Given the description of an element on the screen output the (x, y) to click on. 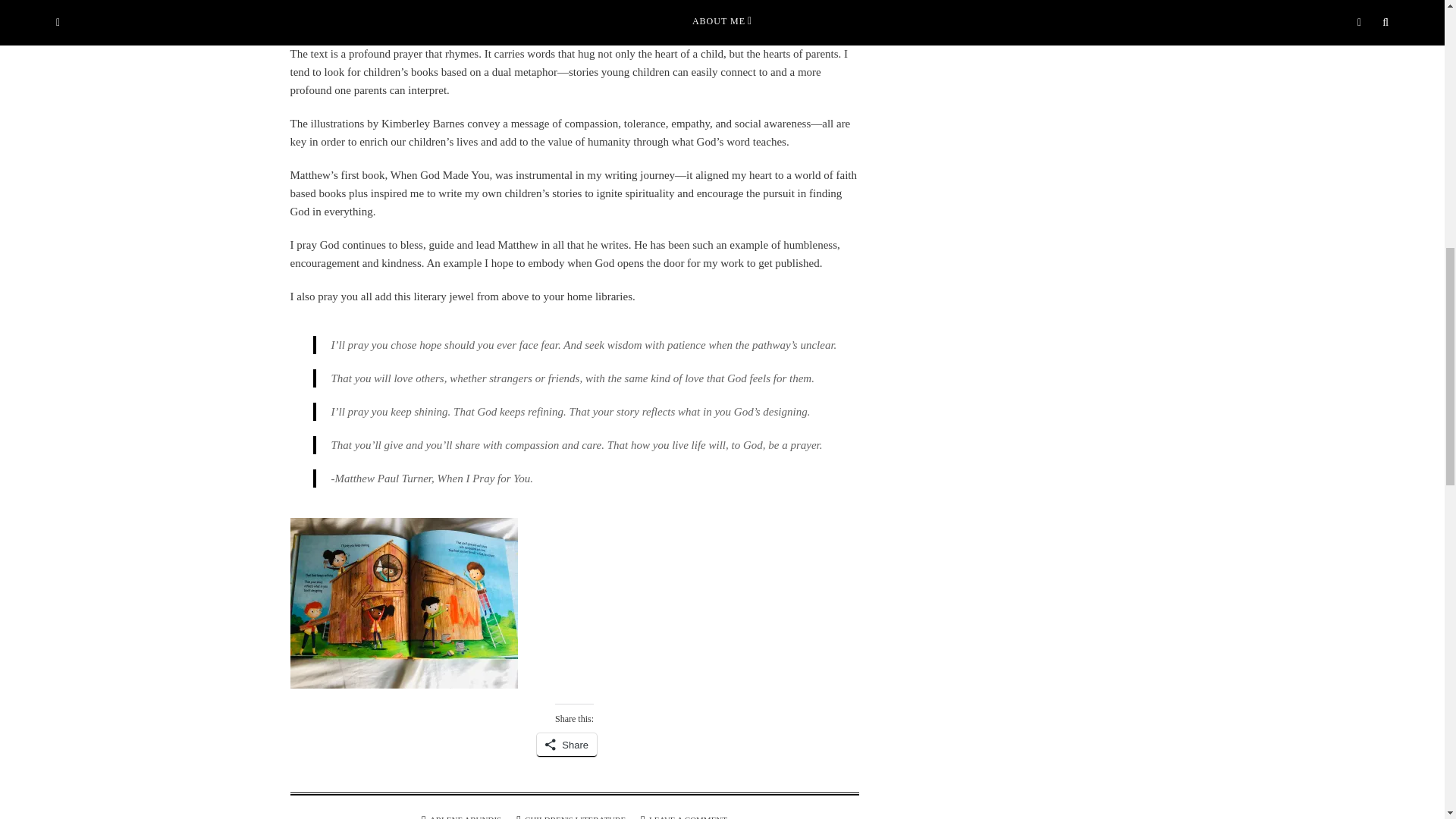
LEAVE A COMMENT (687, 816)
ARLENE ABUNDIS (464, 816)
Share (566, 744)
CHILDREN'S LITERATURE (575, 816)
View all posts by Arlene Abundis (464, 816)
